Given the description of an element on the screen output the (x, y) to click on. 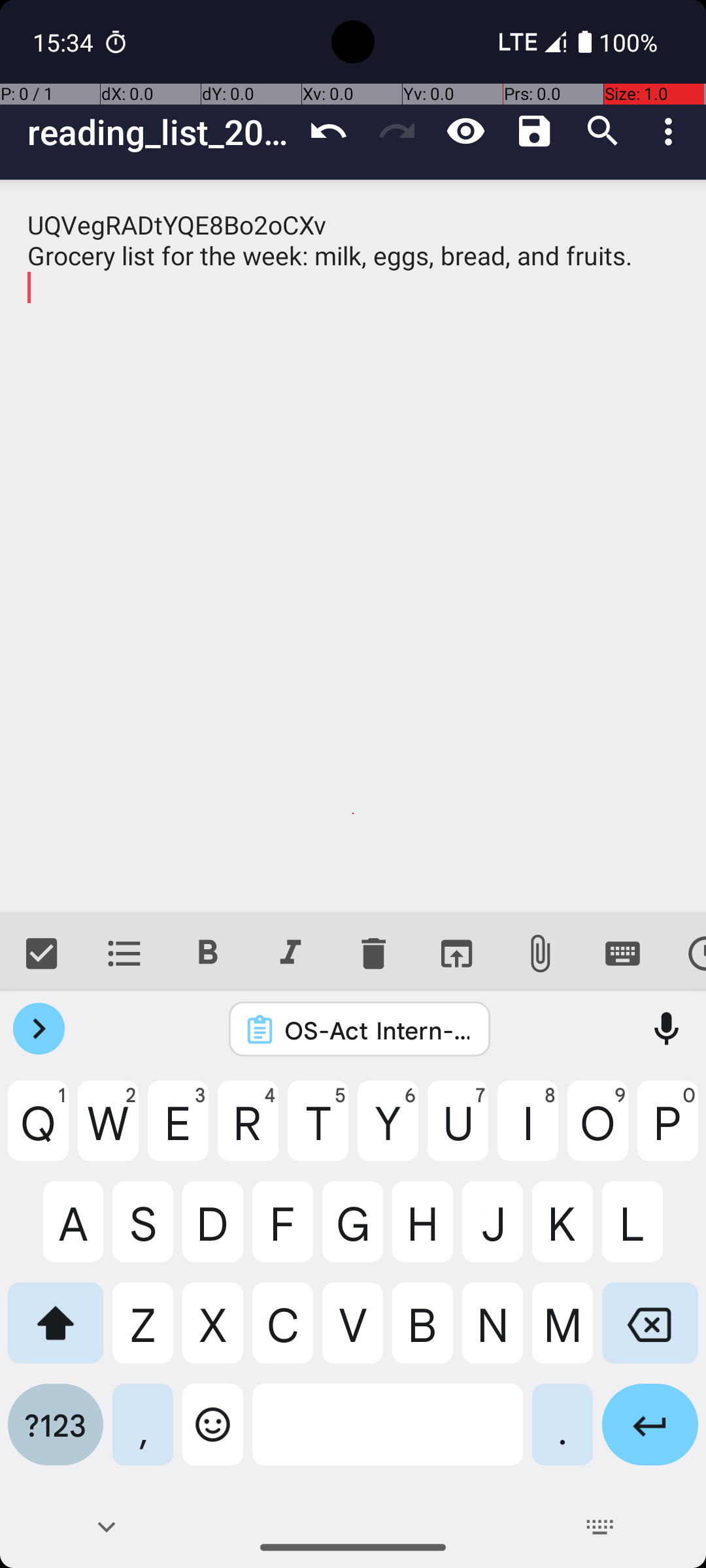
reading_list_2024_copy Element type: android.widget.TextView (160, 131)
UQVegRADtYQE8Bo2oCXv
Grocery list for the week: milk, eggs, bread, and fruits.
 Element type: android.widget.EditText (353, 545)
OS-Act	Intern-VL2-4B	✅	240913-3 (240906-2的from base对照组) OS-Act	Intern-VL2-4B	✅	240913-4 OS-Act	Intern-VL2-4B	✅	240914-1 Element type: android.widget.TextView (376, 1029)
